Given the description of an element on the screen output the (x, y) to click on. 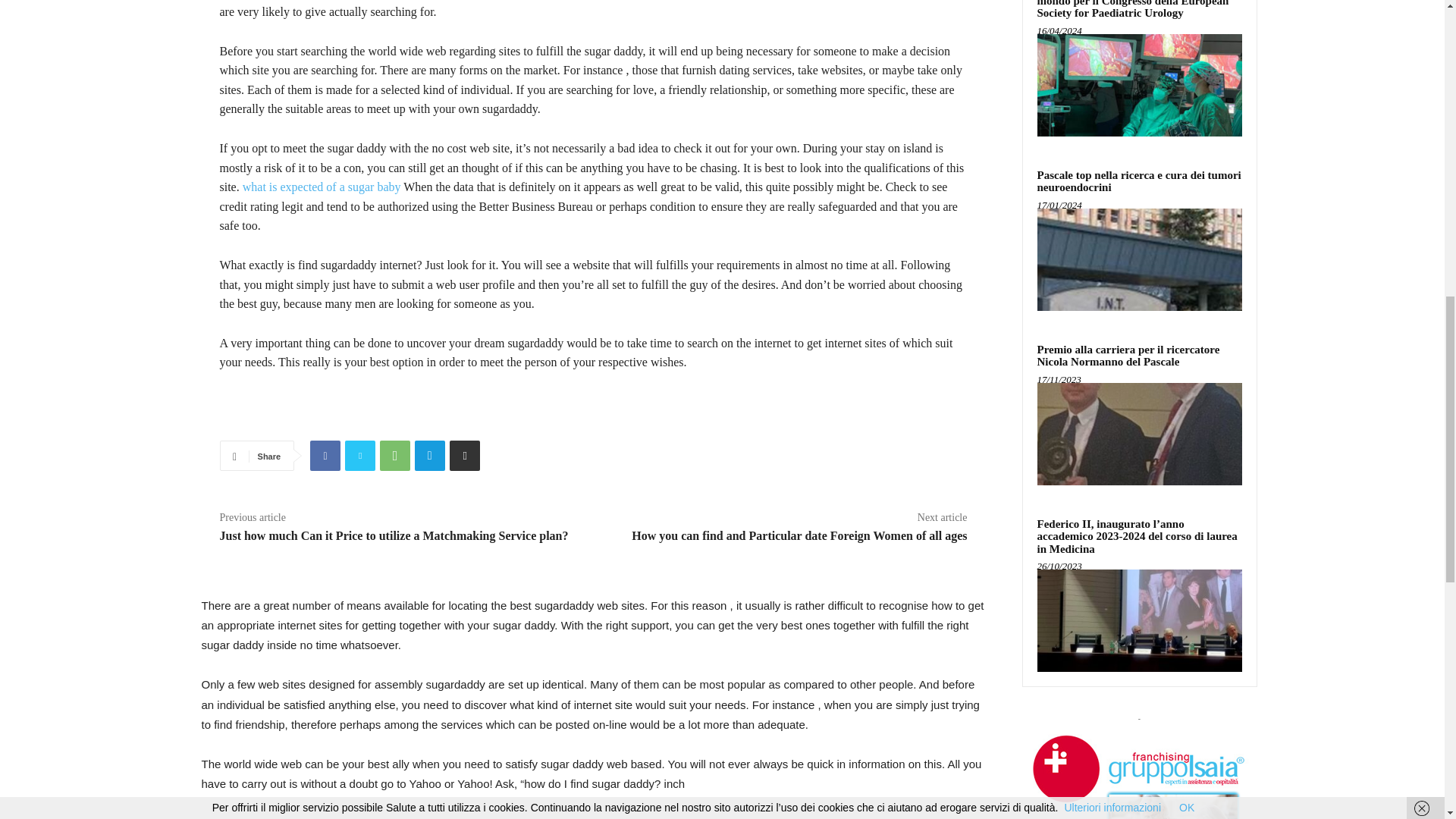
Telegram (429, 455)
Twitter (360, 455)
WhatsApp (395, 455)
Facebook (325, 455)
